Given the description of an element on the screen output the (x, y) to click on. 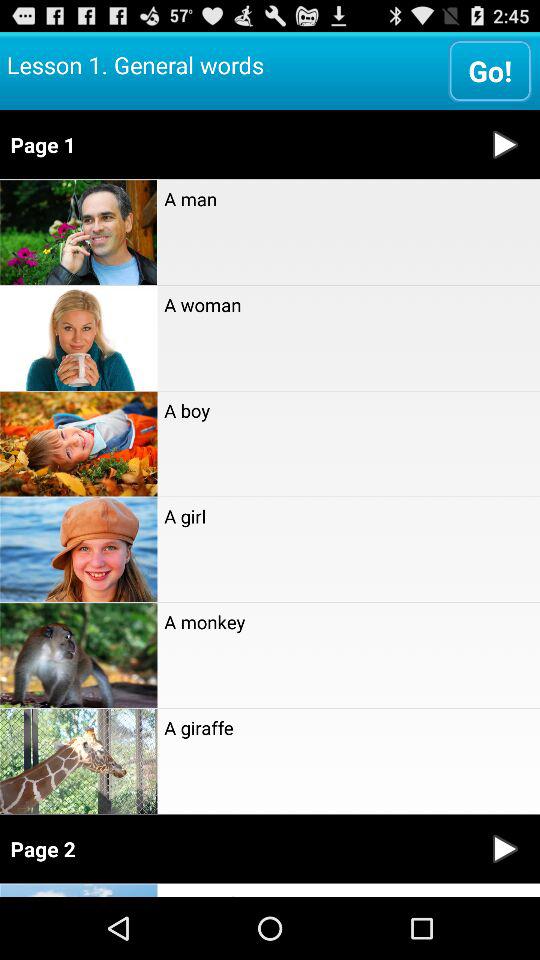
go to next page (505, 848)
